Given the description of an element on the screen output the (x, y) to click on. 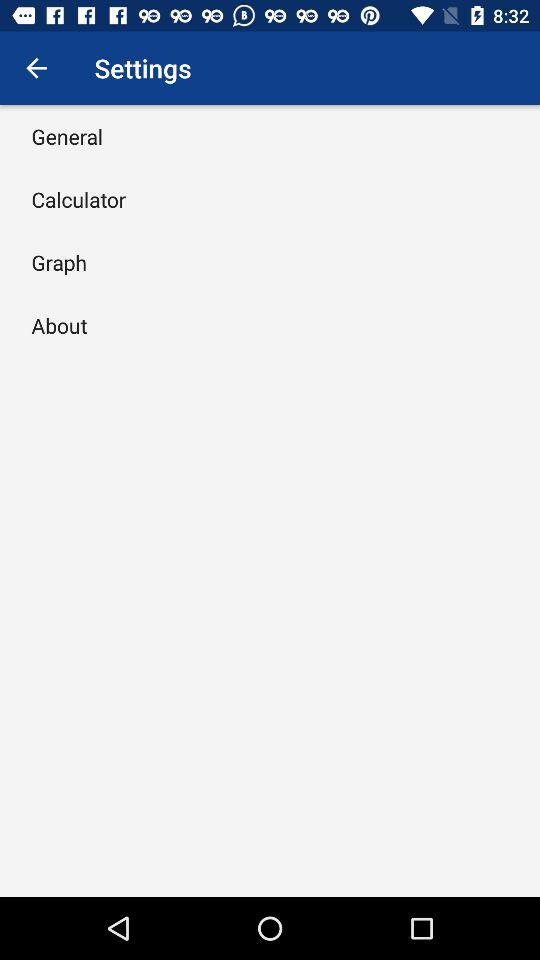
turn on the item below general icon (78, 199)
